Given the description of an element on the screen output the (x, y) to click on. 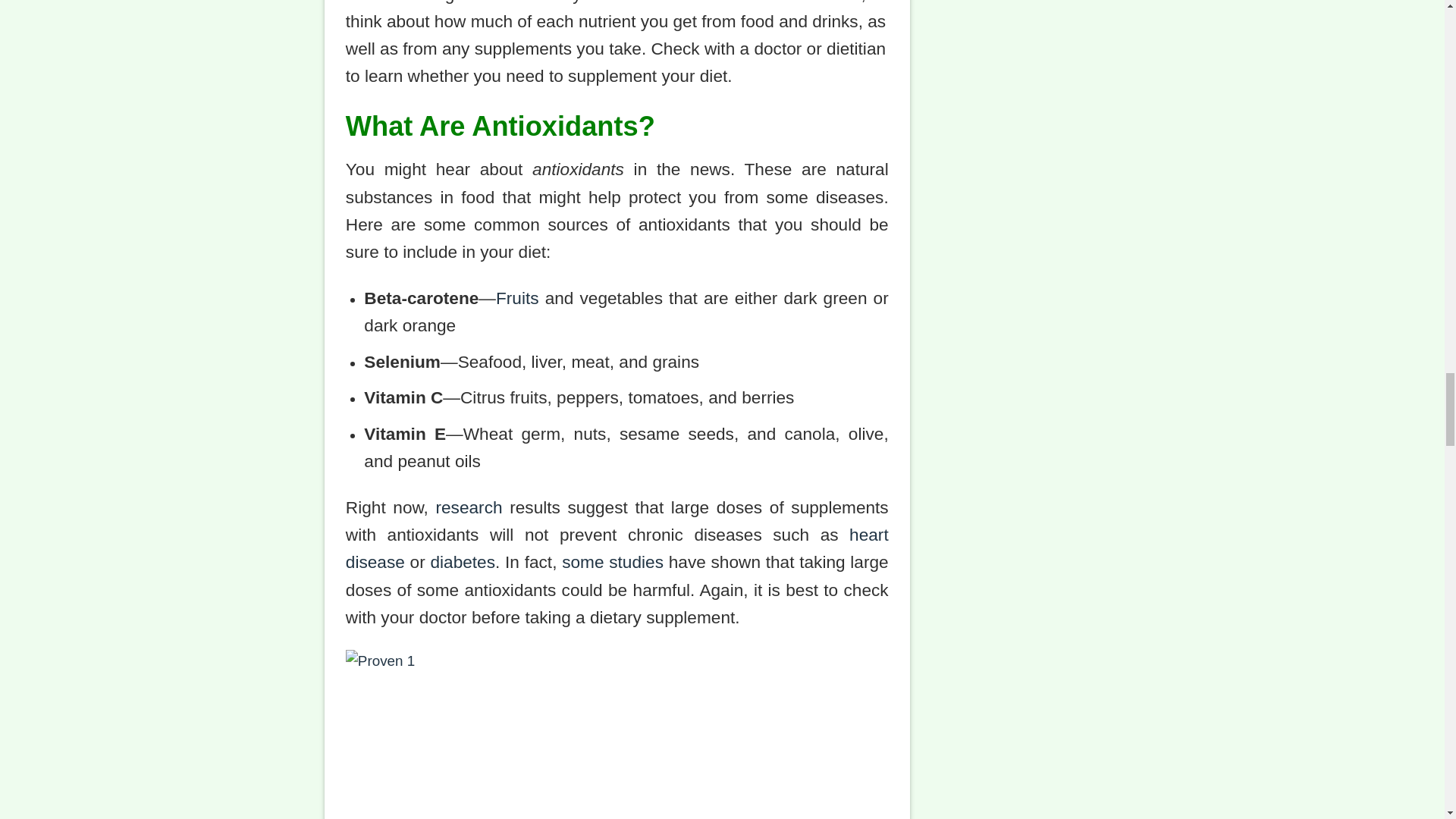
some studies (612, 561)
heart disease (617, 547)
Fruits (517, 297)
Dietary Supplements 5 (617, 734)
diabetes (462, 561)
research (468, 506)
